Given the description of an element on the screen output the (x, y) to click on. 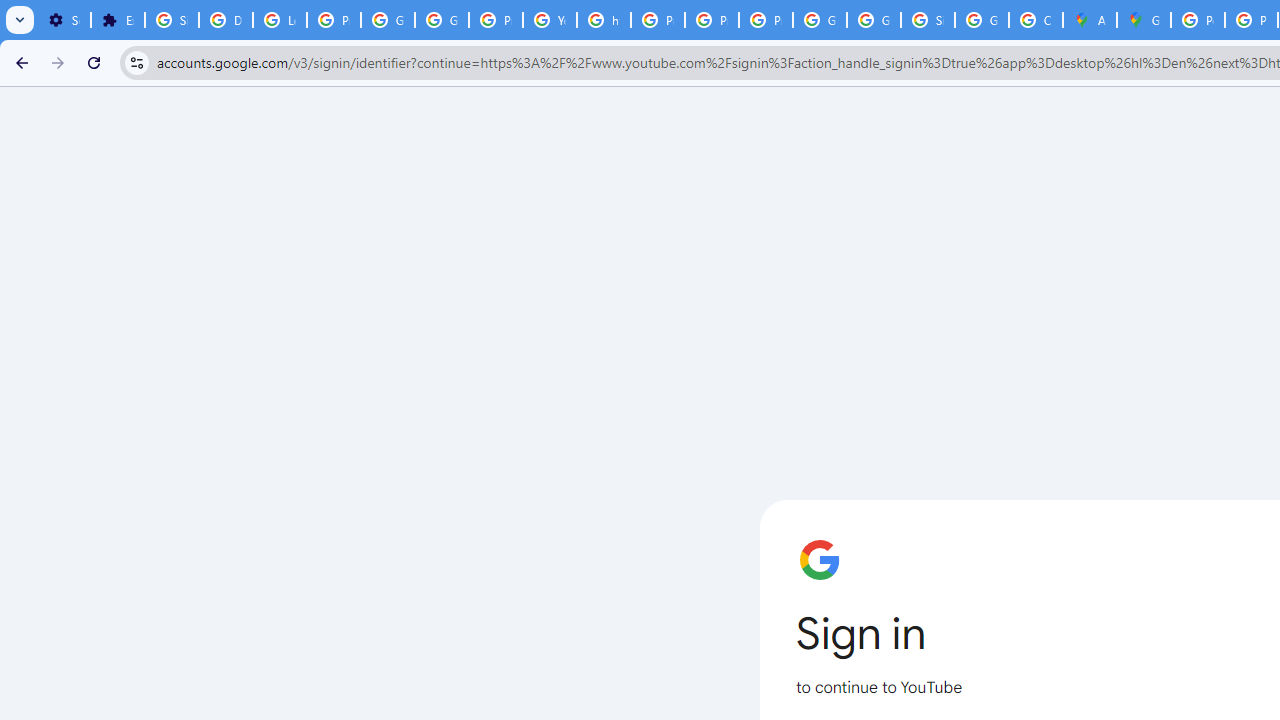
Policy Accountability and Transparency - Transparency Center (1197, 20)
Create your Google Account (1035, 20)
Settings - On startup (63, 20)
https://scholar.google.com/ (604, 20)
